Given the description of an element on the screen output the (x, y) to click on. 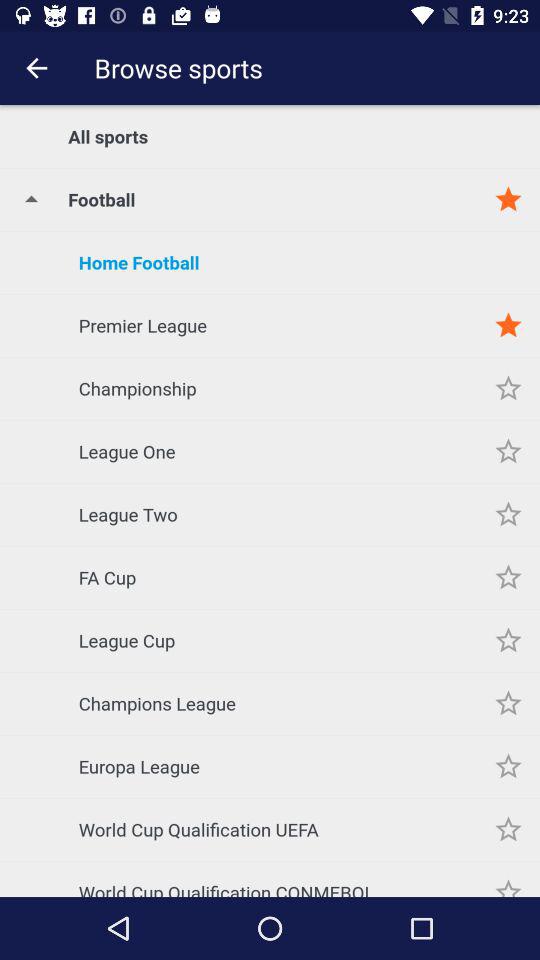
select option (508, 577)
